Given the description of an element on the screen output the (x, y) to click on. 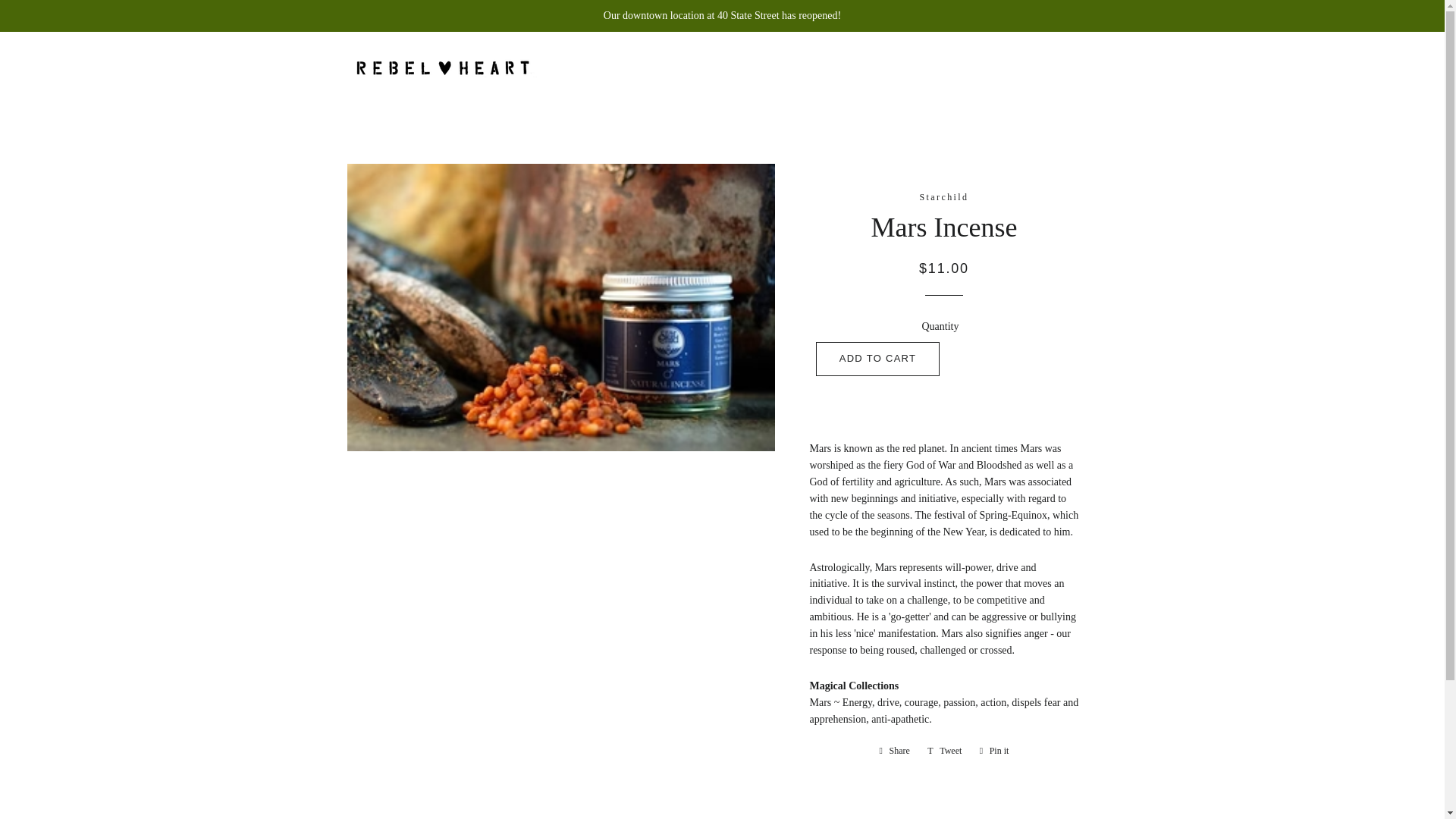
Tweet on Twitter (944, 750)
Share on Facebook (894, 750)
ADD TO CART (877, 358)
Pin on Pinterest (994, 750)
